Given the description of an element on the screen output the (x, y) to click on. 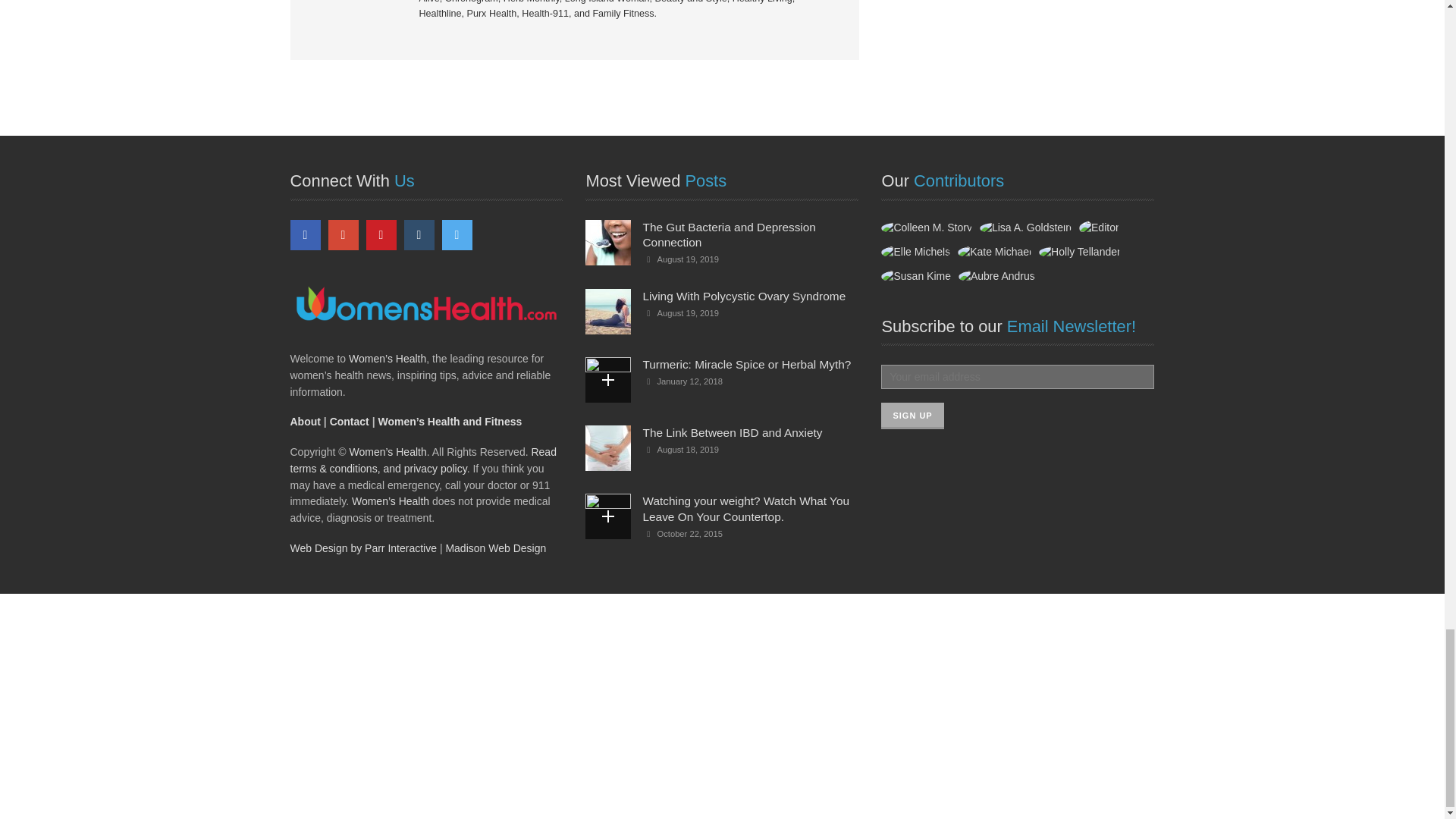
Sign up (911, 415)
